Given the description of an element on the screen output the (x, y) to click on. 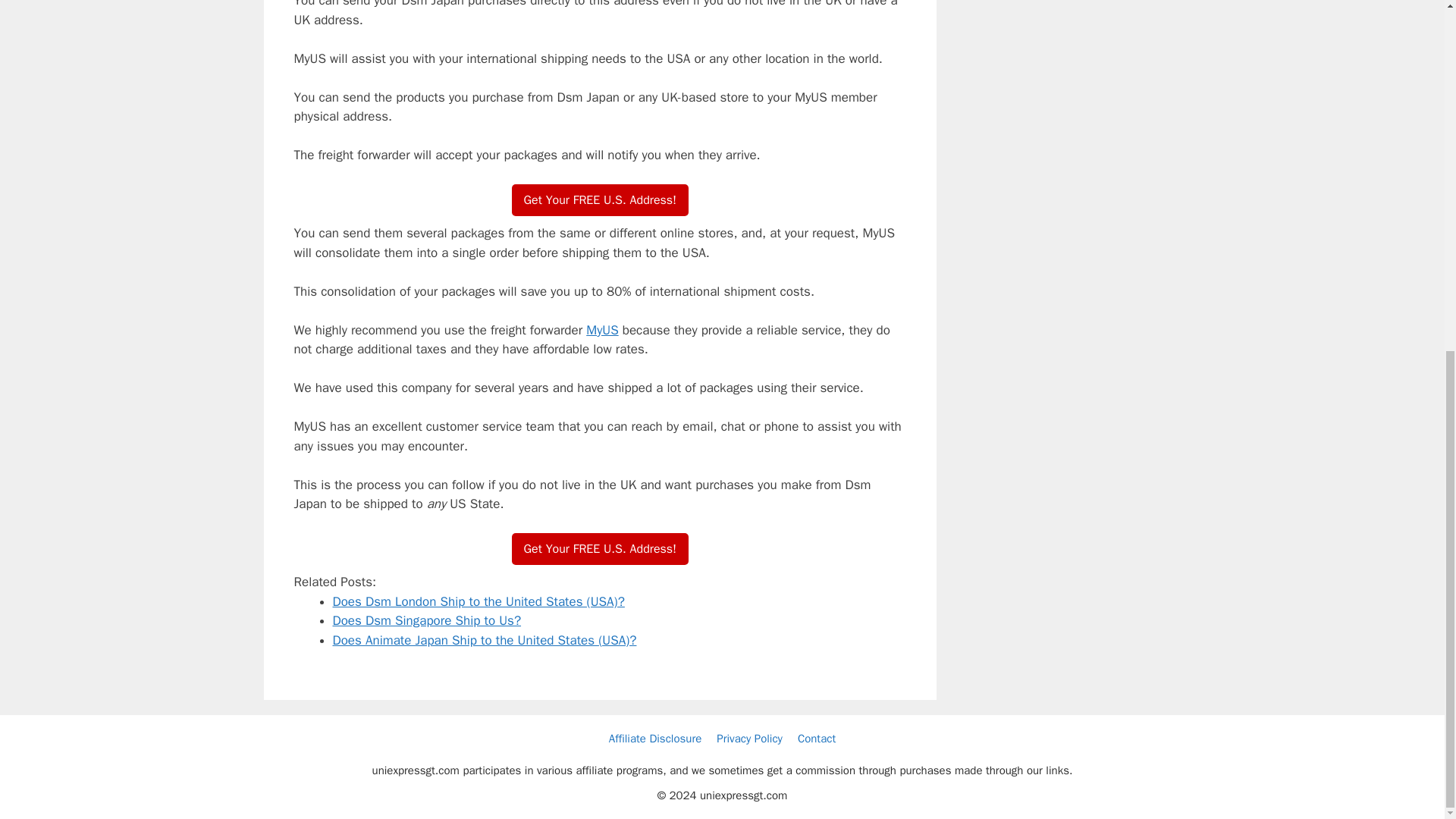
Get Your FREE U.S. Address! (600, 549)
MyUS (601, 330)
Does Dsm Singapore Ship to Us? (426, 620)
Get Your FREE U.S. Address! (600, 200)
Privacy Policy (749, 738)
Contact (816, 738)
Affiliate Disclosure (654, 738)
